Given the description of an element on the screen output the (x, y) to click on. 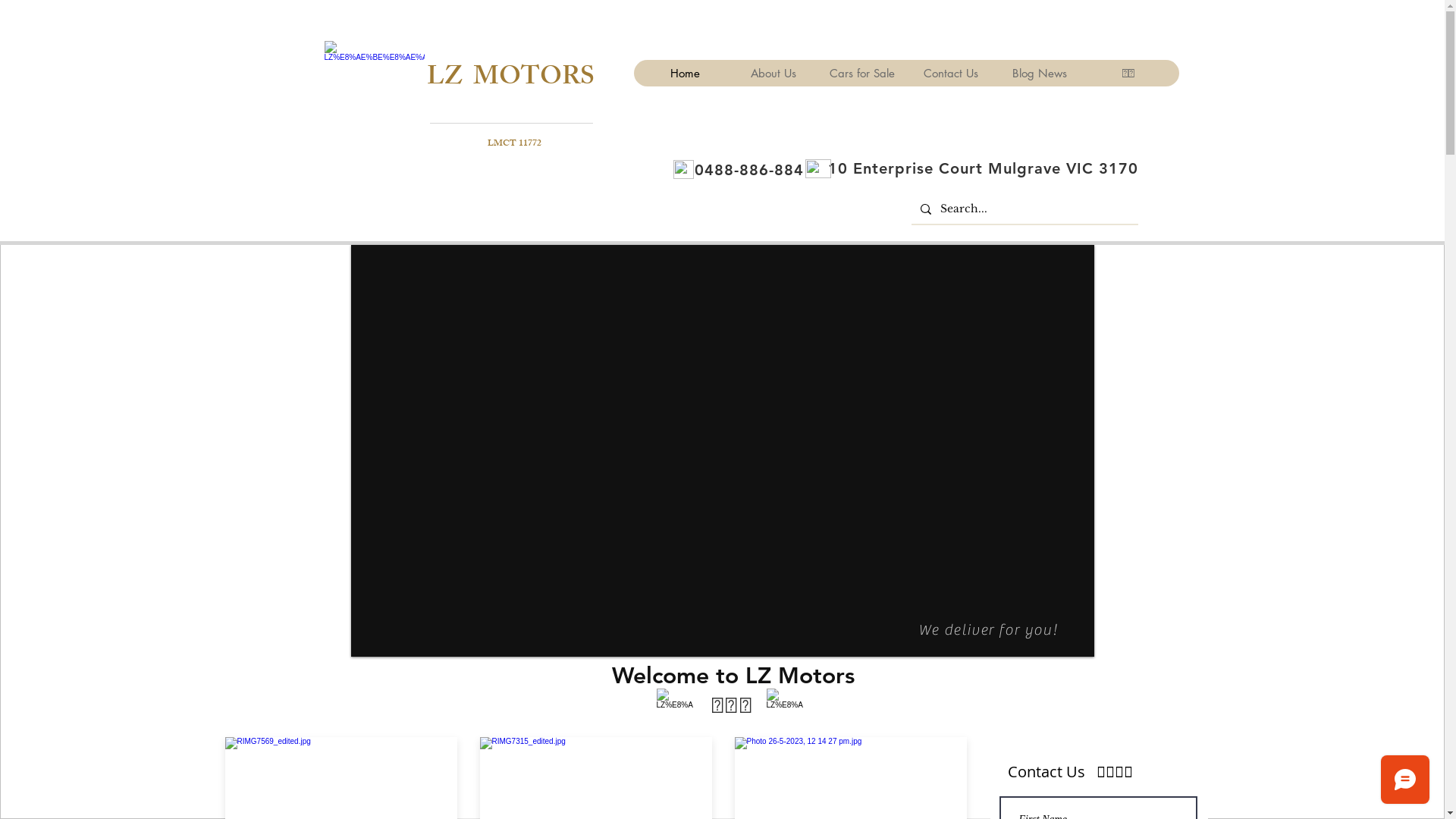
Home Element type: text (684, 72)
Cars for Sale Element type: text (861, 72)
Blog News Element type: text (1038, 72)
About Us Element type: text (772, 72)
Contact Us Element type: text (950, 72)
